Given the description of an element on the screen output the (x, y) to click on. 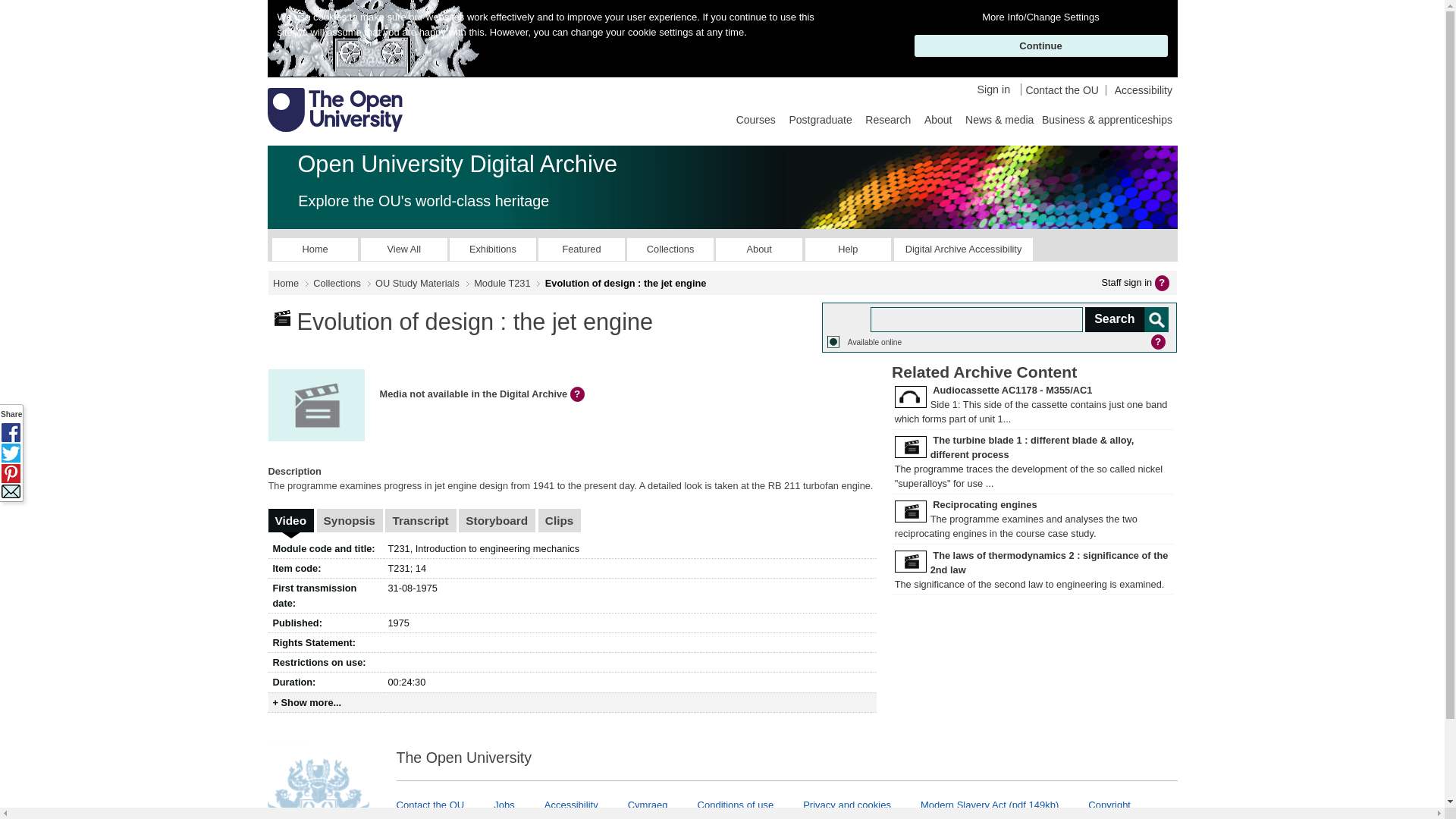
share this via Pinterest (10, 473)
Exhibitions at OU Digital Archive (492, 249)
About (759, 249)
Search (1125, 319)
About (938, 119)
View Reciprocating engines within the Digital Archive (985, 504)
help with signing in (1163, 282)
Collections (670, 249)
contextual help (579, 393)
Research (887, 119)
About OUDL (759, 249)
Contact the OU (1062, 90)
Collections (337, 283)
View All (403, 249)
